Given the description of an element on the screen output the (x, y) to click on. 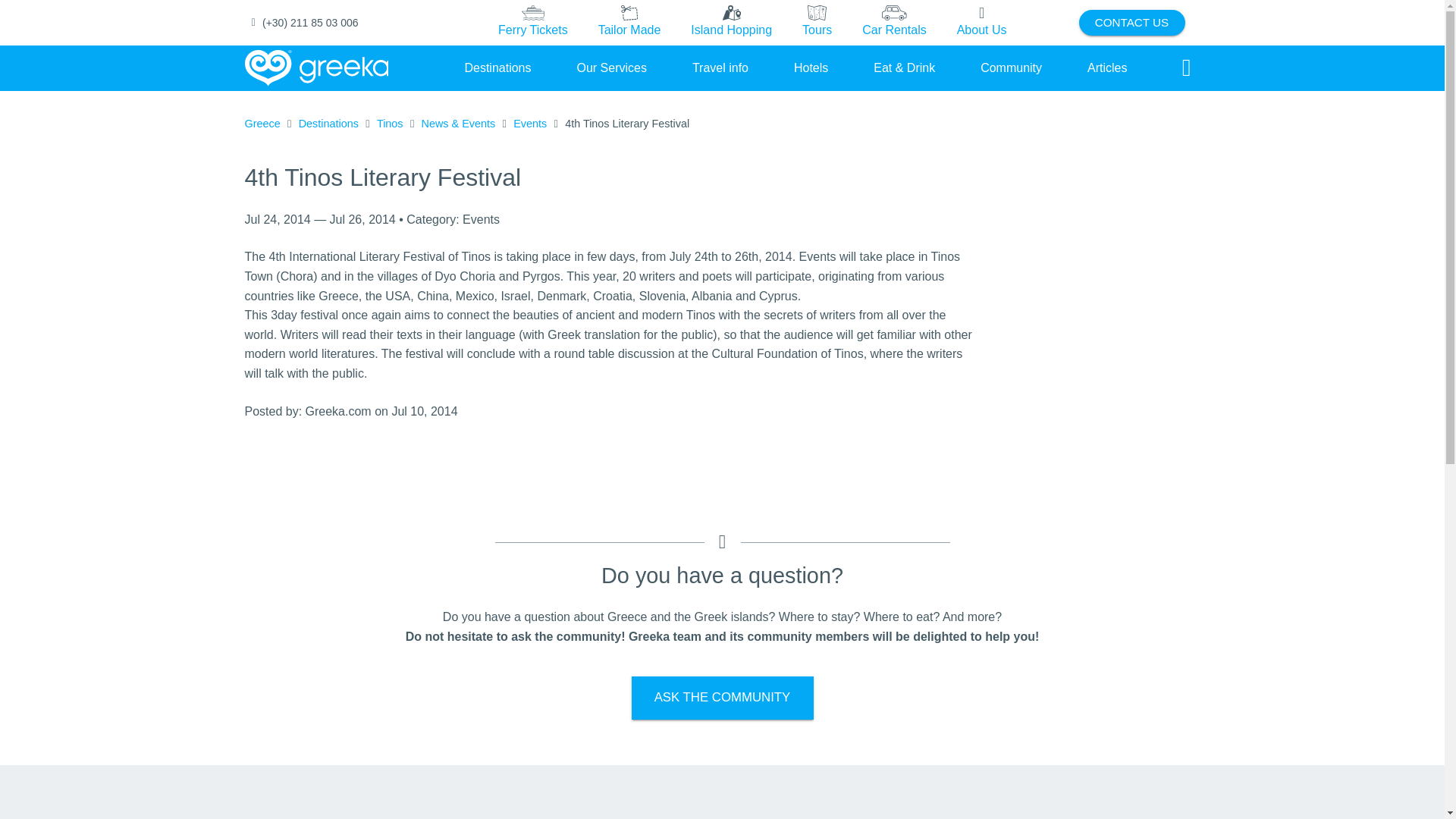
Tailor made services (630, 22)
Travel info (720, 67)
Hotels (810, 67)
Hotels (810, 67)
Destinations (497, 67)
4th Tinos Literary Festival (626, 123)
Community (1010, 67)
Articles (1106, 67)
Events (530, 123)
Ferry tickets (533, 22)
